Given the description of an element on the screen output the (x, y) to click on. 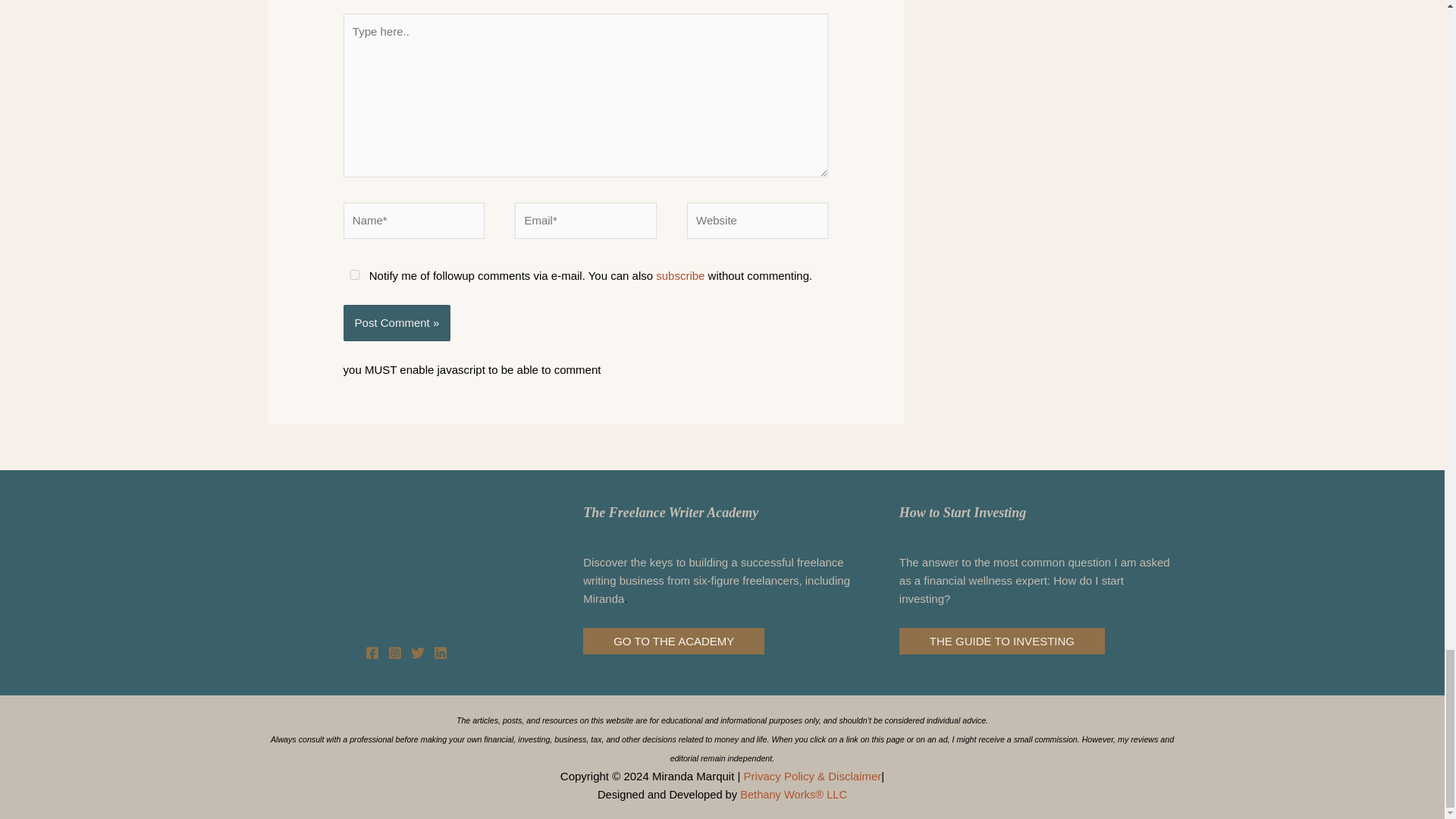
yes (354, 275)
